Given the description of an element on the screen output the (x, y) to click on. 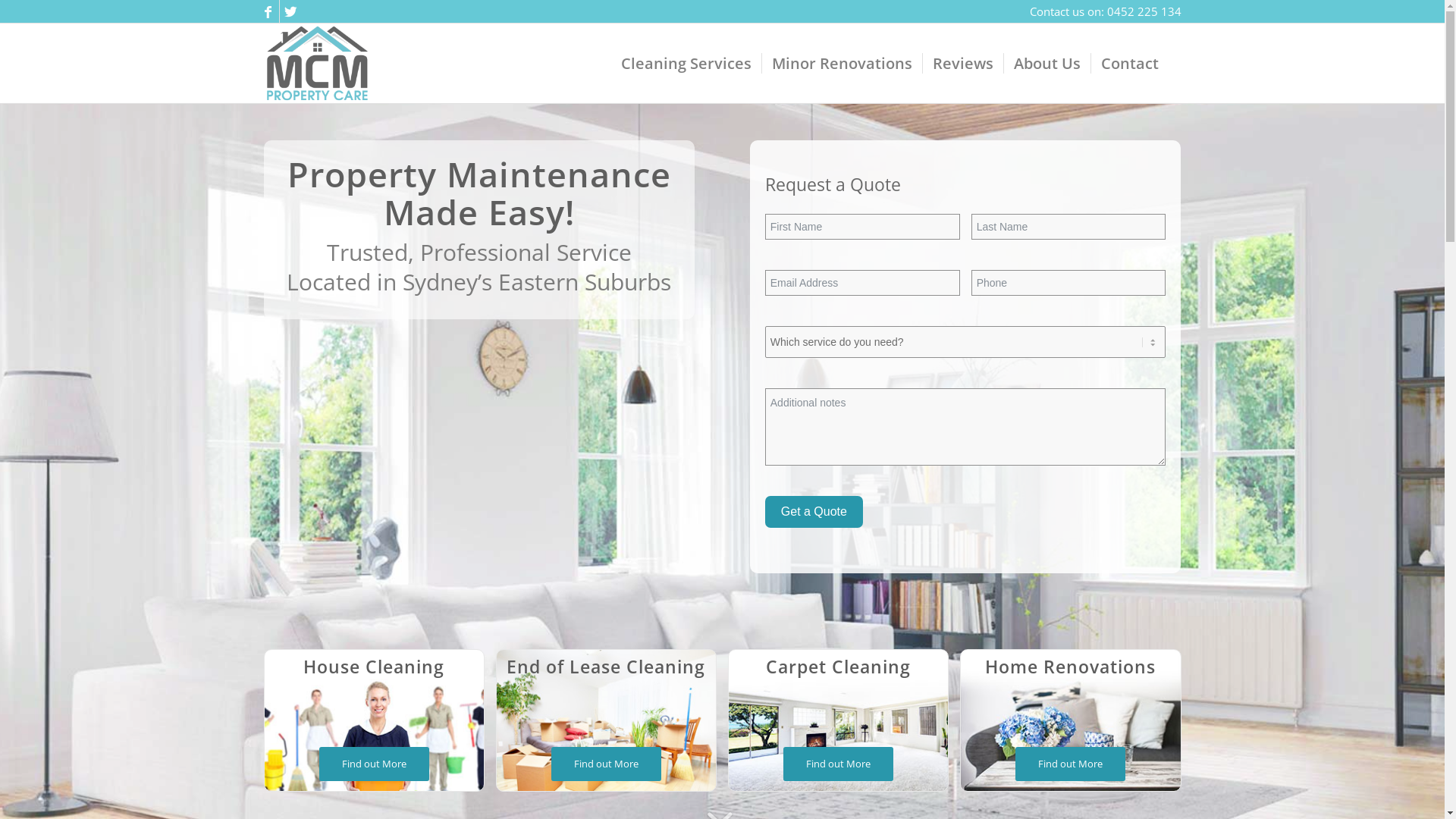
Get a Quote Element type: text (813, 511)
House Cleaning Element type: text (373, 666)
Cleaning Services Element type: text (686, 63)
Reviews Element type: text (962, 63)
Home Renovations Element type: text (1070, 666)
About Us Element type: text (1045, 63)
Contact Element type: text (1129, 63)
Facebook Element type: hover (267, 11)
Carpet Cleaning Element type: text (837, 666)
Find out More Element type: text (374, 763)
Find out More Element type: text (838, 763)
Minor Renovations Element type: text (841, 63)
Twitter Element type: hover (290, 11)
Find out More Element type: text (1070, 763)
End of Lease Cleaning Element type: text (605, 666)
mcm-logo-sml Element type: hover (316, 63)
Find out More Element type: text (606, 763)
